Given the description of an element on the screen output the (x, y) to click on. 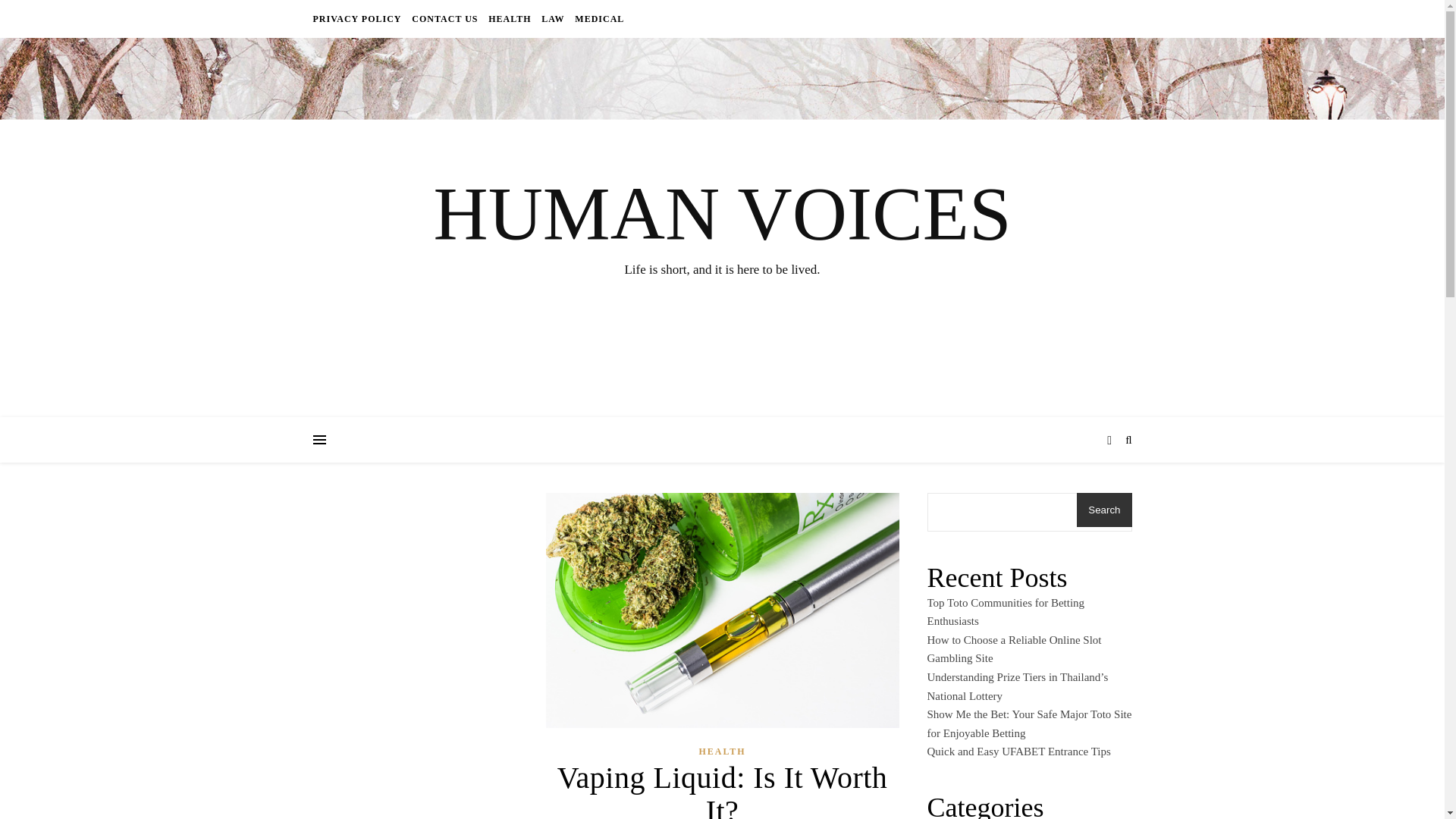
Quick and Easy UFABET Entrance Tips (1017, 751)
Top Toto Communities for Betting Enthusiasts (1005, 612)
Search (1104, 510)
How to Choose a Reliable Online Slot Gambling Site (1013, 649)
HEALTH (721, 751)
HEALTH (509, 18)
CONTACT US (444, 18)
MEDICAL (597, 18)
PRIVACY POLICY (358, 18)
